Given the description of an element on the screen output the (x, y) to click on. 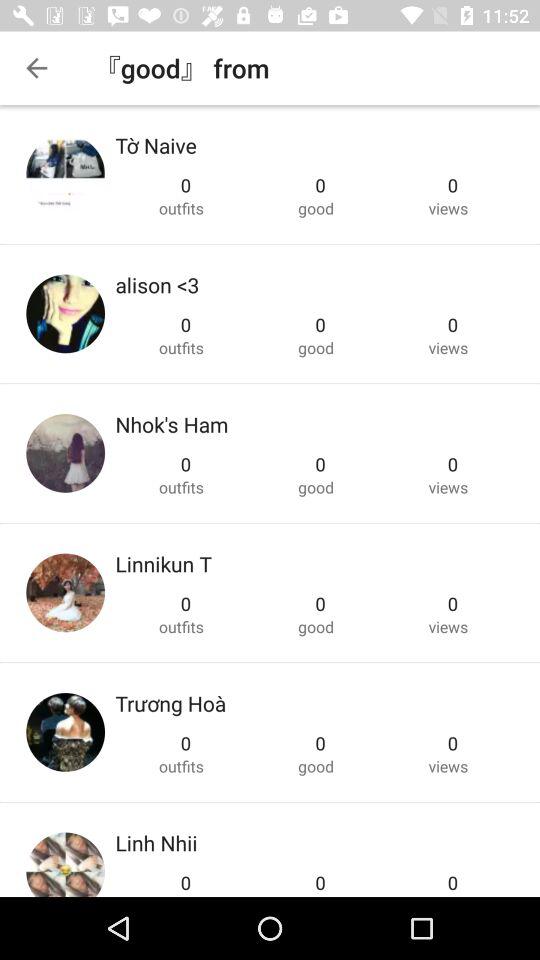
press item above the   0 item (156, 842)
